Given the description of an element on the screen output the (x, y) to click on. 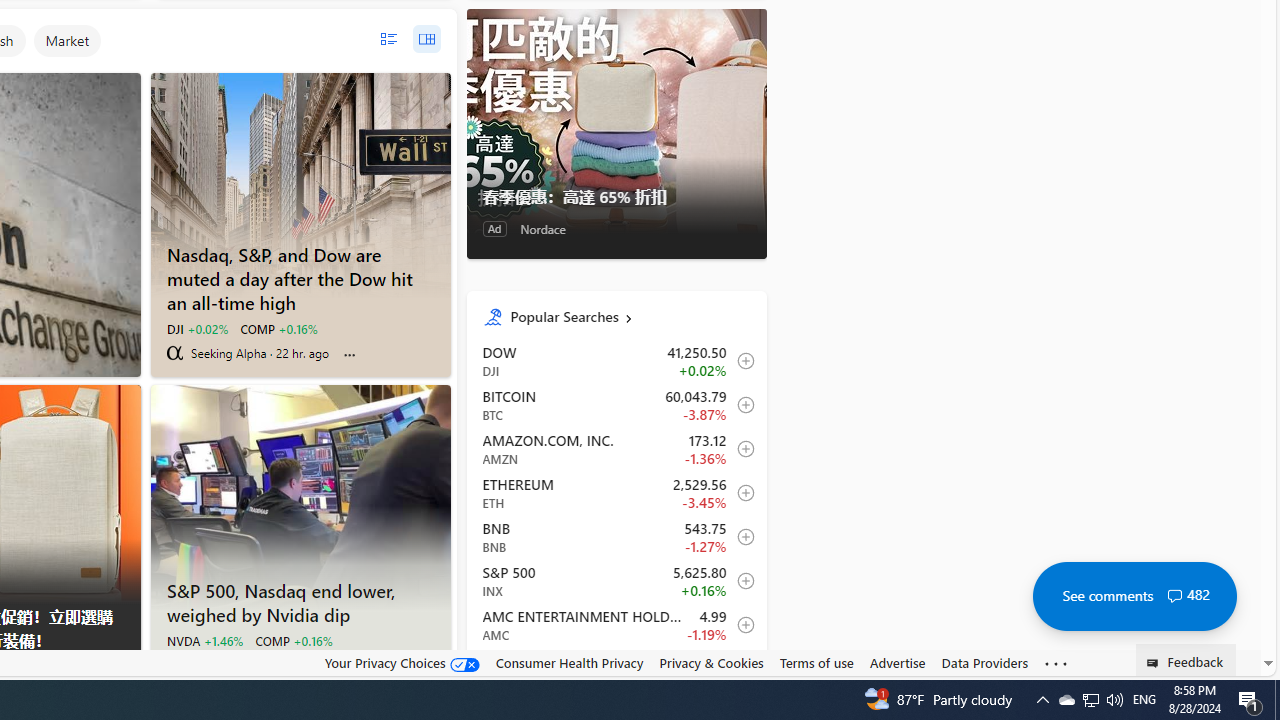
Terms of use (816, 663)
Data Providers (983, 663)
Market (67, 40)
Your Privacy Choices (401, 662)
S&P 500, Nasdaq end lower, weighed by Nvidia dip - Reuters (299, 497)
See comments 482 (1133, 596)
AdChoices (123, 668)
DJI DOW increase 41,250.50 +9.98 +0.02% itemundefined (615, 361)
Class: notInWatclistIcon-DS-EntryPoint1-6 lightTheme (740, 668)
